Given the description of an element on the screen output the (x, y) to click on. 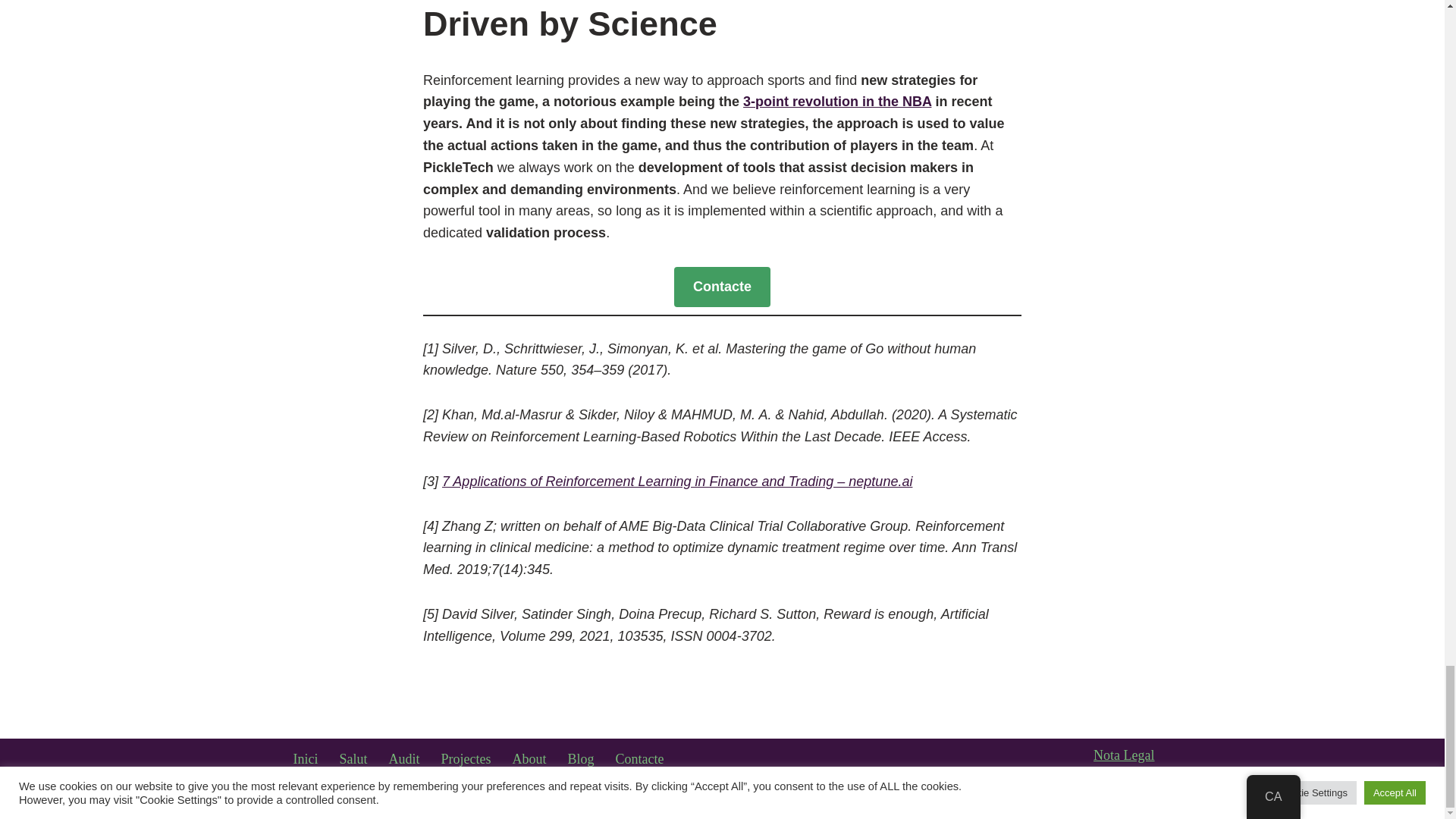
Contacte (722, 286)
WordPress (441, 798)
Contacte (639, 758)
Neve (303, 798)
Blog (580, 758)
Audit (404, 758)
Projectes (466, 758)
Salut (353, 758)
3-point revolution in the NBA (836, 101)
About (529, 758)
Nota Legal (1123, 754)
Inici (304, 758)
